Given the description of an element on the screen output the (x, y) to click on. 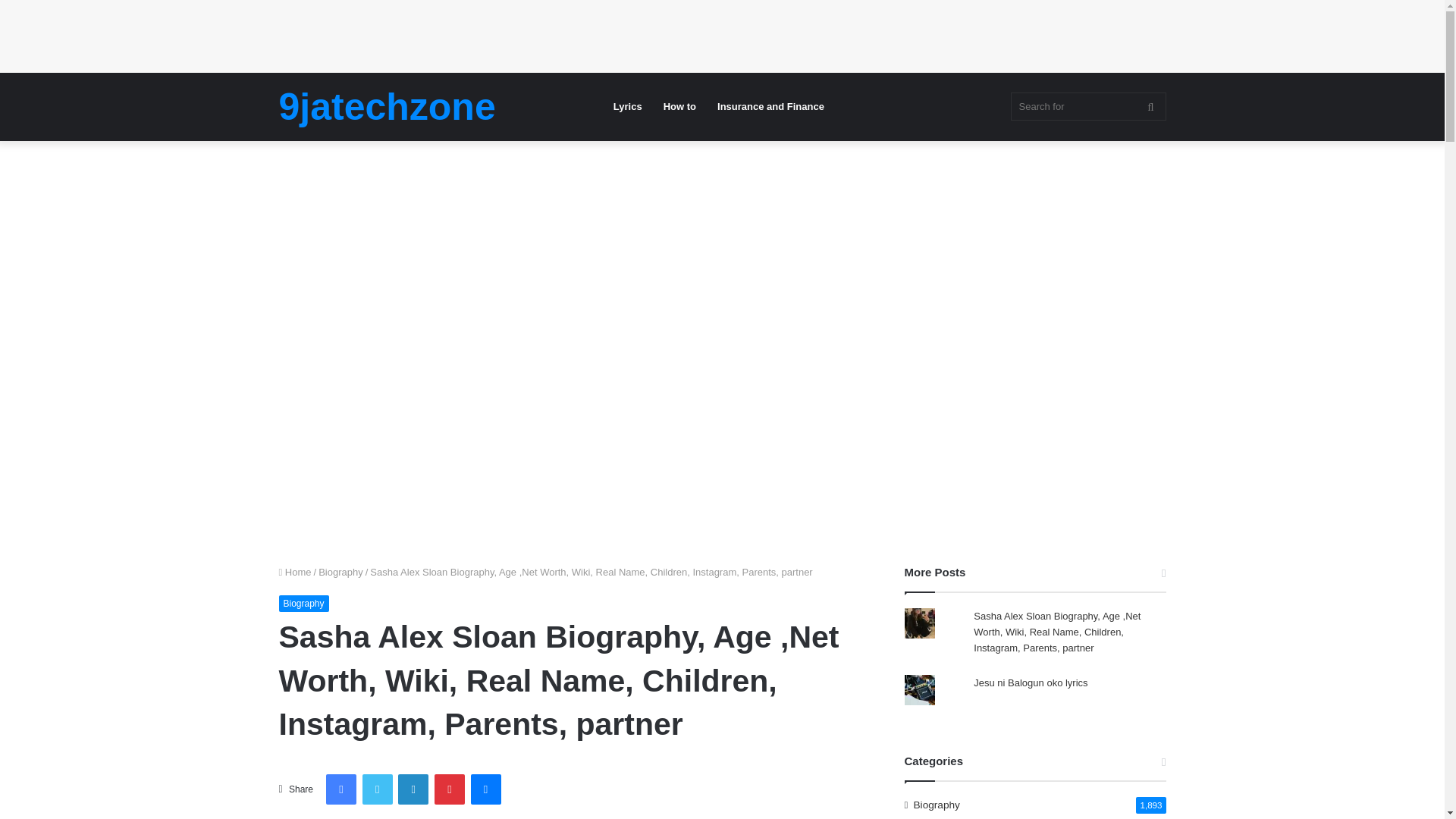
Search for (1150, 106)
Search for (1088, 106)
Home (295, 572)
Facebook (341, 788)
Advertisement (721, 241)
9jatechzone (387, 106)
Insurance and Finance (770, 106)
Biography (304, 603)
Facebook (341, 788)
Messenger (485, 788)
9jatechzone (387, 106)
Advertisement (275, 33)
Advertisement (721, 458)
Twitter (377, 788)
How to (679, 106)
